Given the description of an element on the screen output the (x, y) to click on. 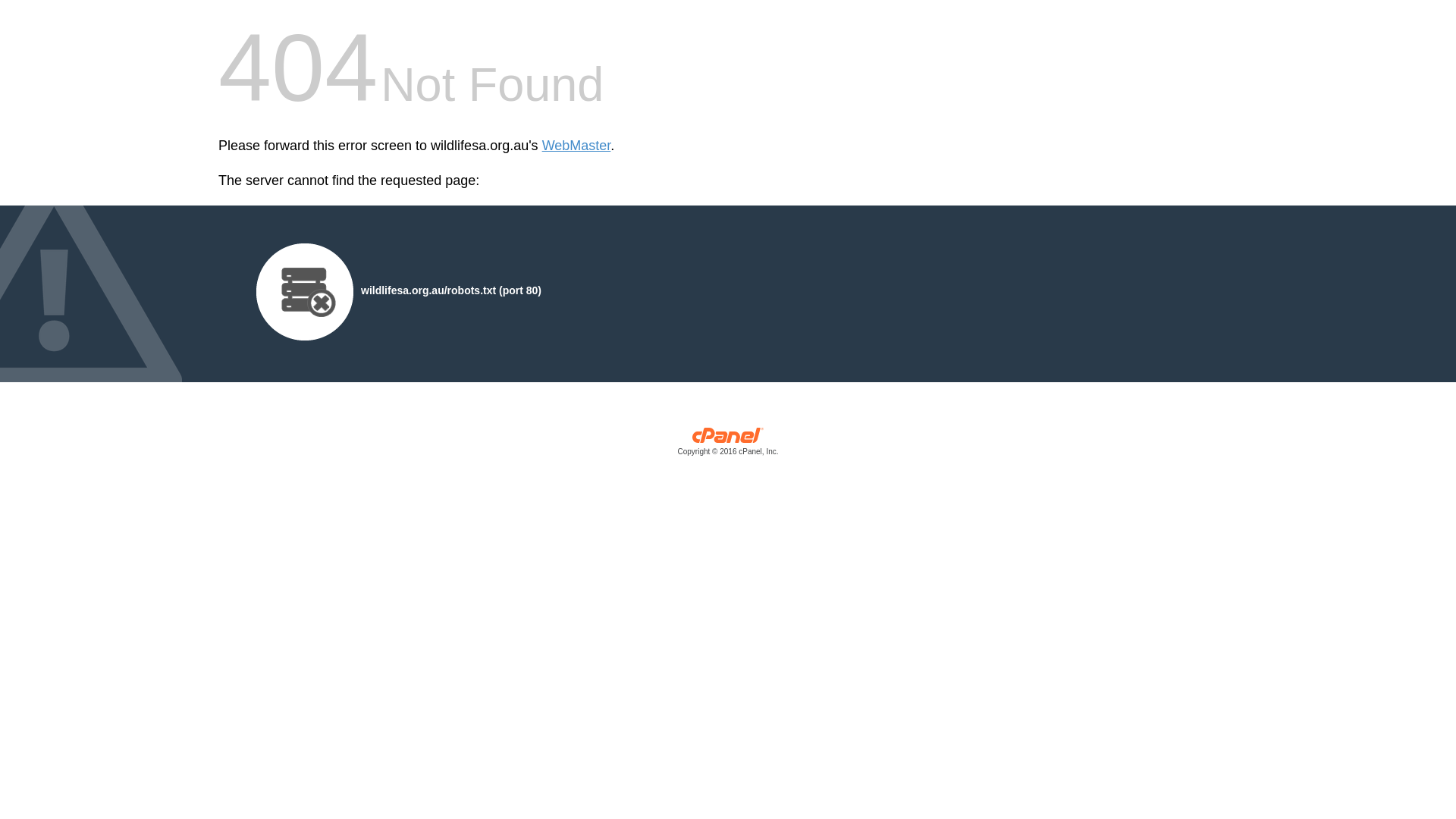
WebMaster Element type: text (576, 145)
